Given the description of an element on the screen output the (x, y) to click on. 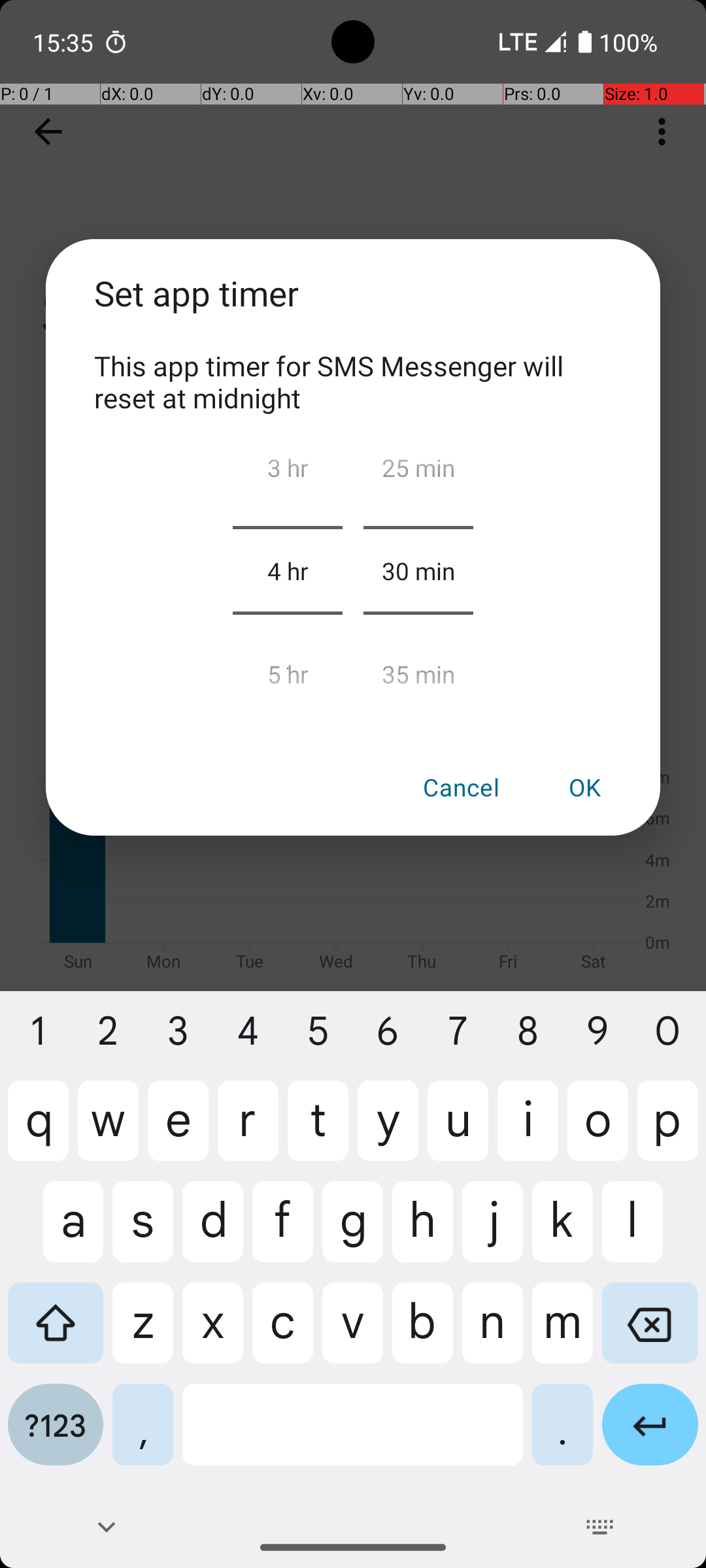
Set app timer Element type: android.widget.TextView (352, 307)
This app timer for SMS Messenger will reset at midnight Element type: android.widget.TextView (352, 381)
3 hr Element type: android.widget.Button (287, 472)
4 hr Element type: android.widget.EditText (287, 570)
5 hr Element type: android.widget.Button (287, 668)
25 min Element type: android.widget.Button (418, 472)
30 min Element type: android.widget.EditText (418, 570)
35 min Element type: android.widget.Button (418, 668)
